Given the description of an element on the screen output the (x, y) to click on. 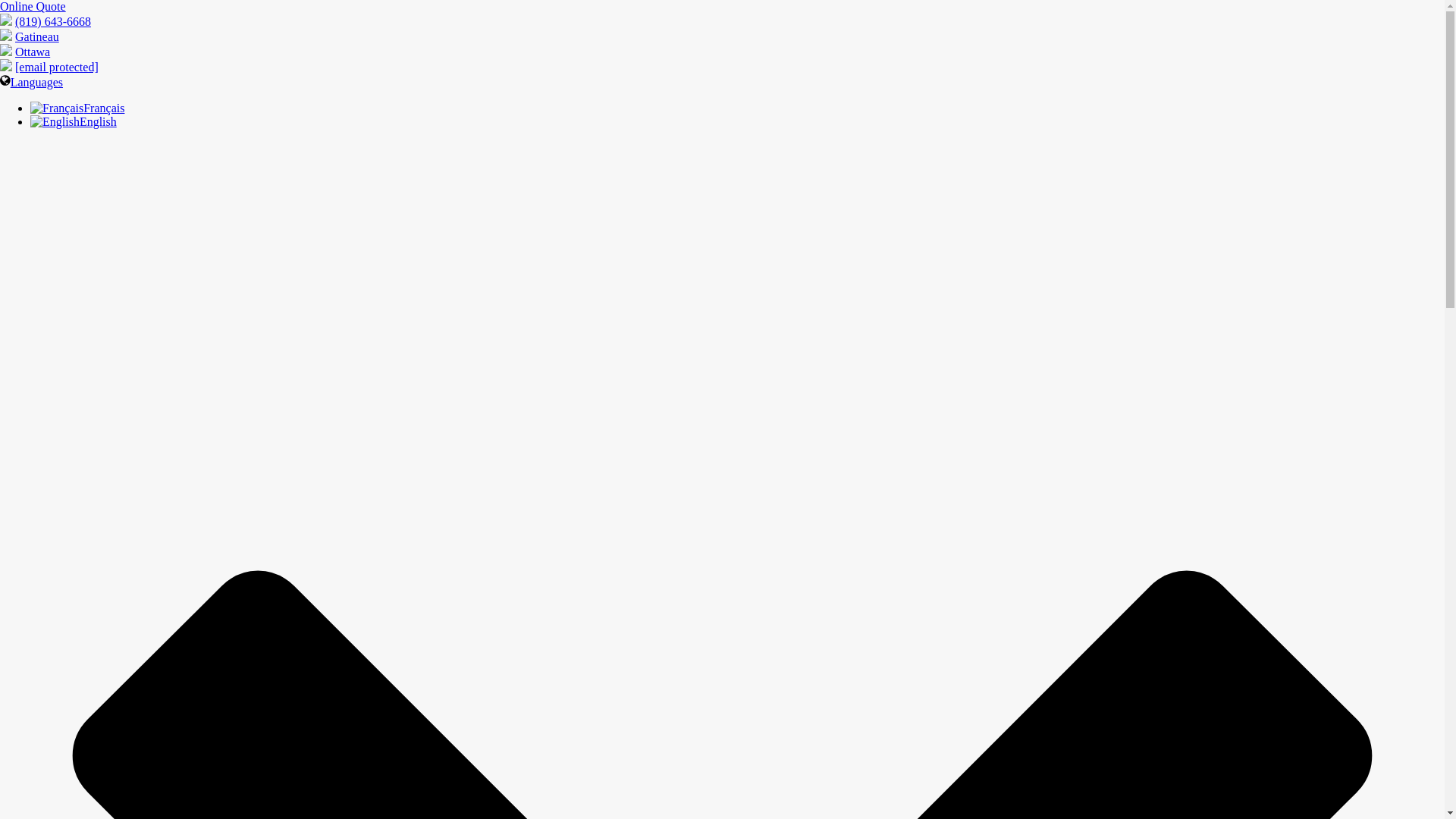
English (55, 121)
English (73, 121)
Online Quote (32, 6)
Languages (31, 82)
Gatineau (36, 36)
Ottawa (31, 51)
